Given the description of an element on the screen output the (x, y) to click on. 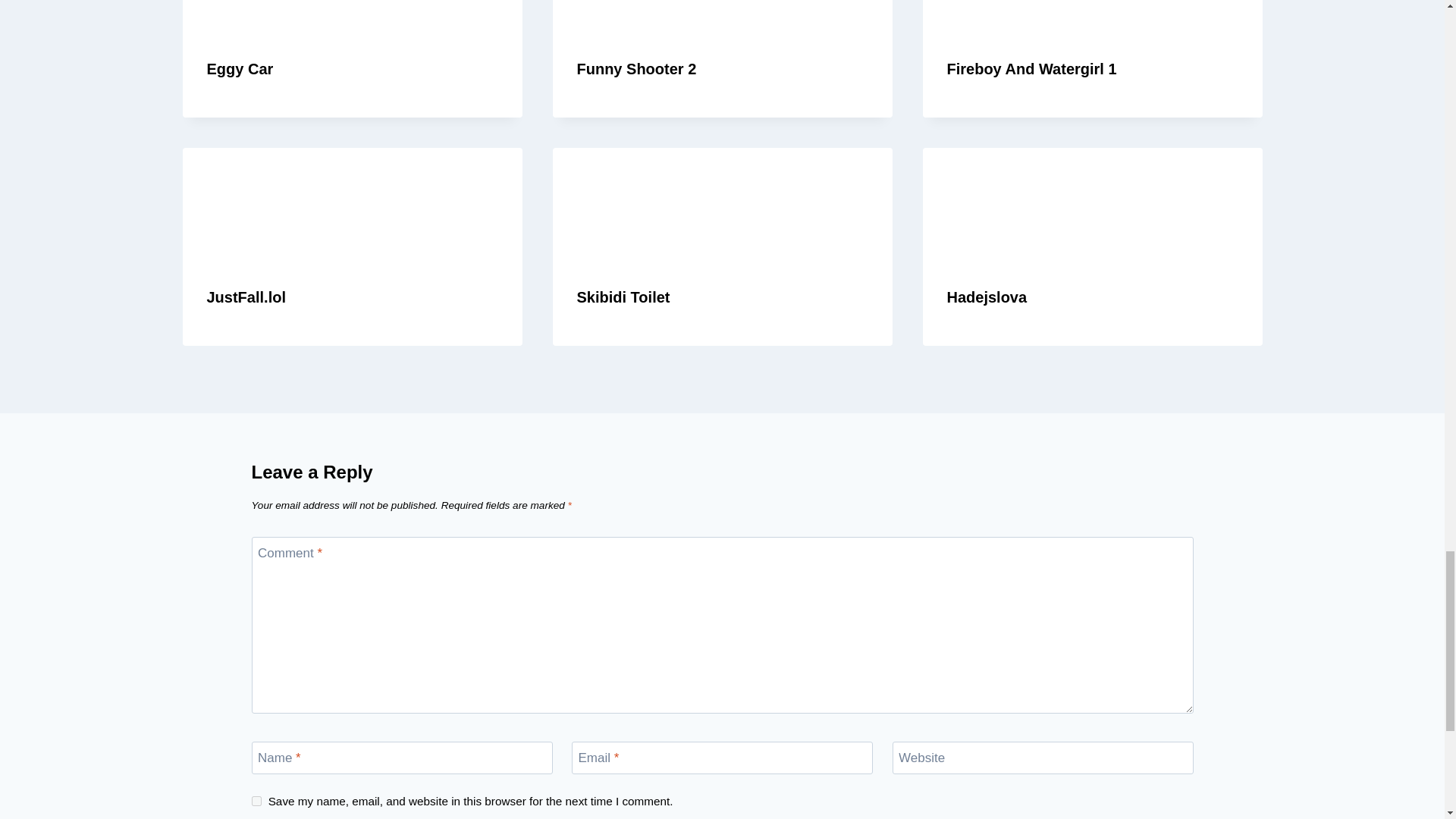
yes (256, 800)
